Given the description of an element on the screen output the (x, y) to click on. 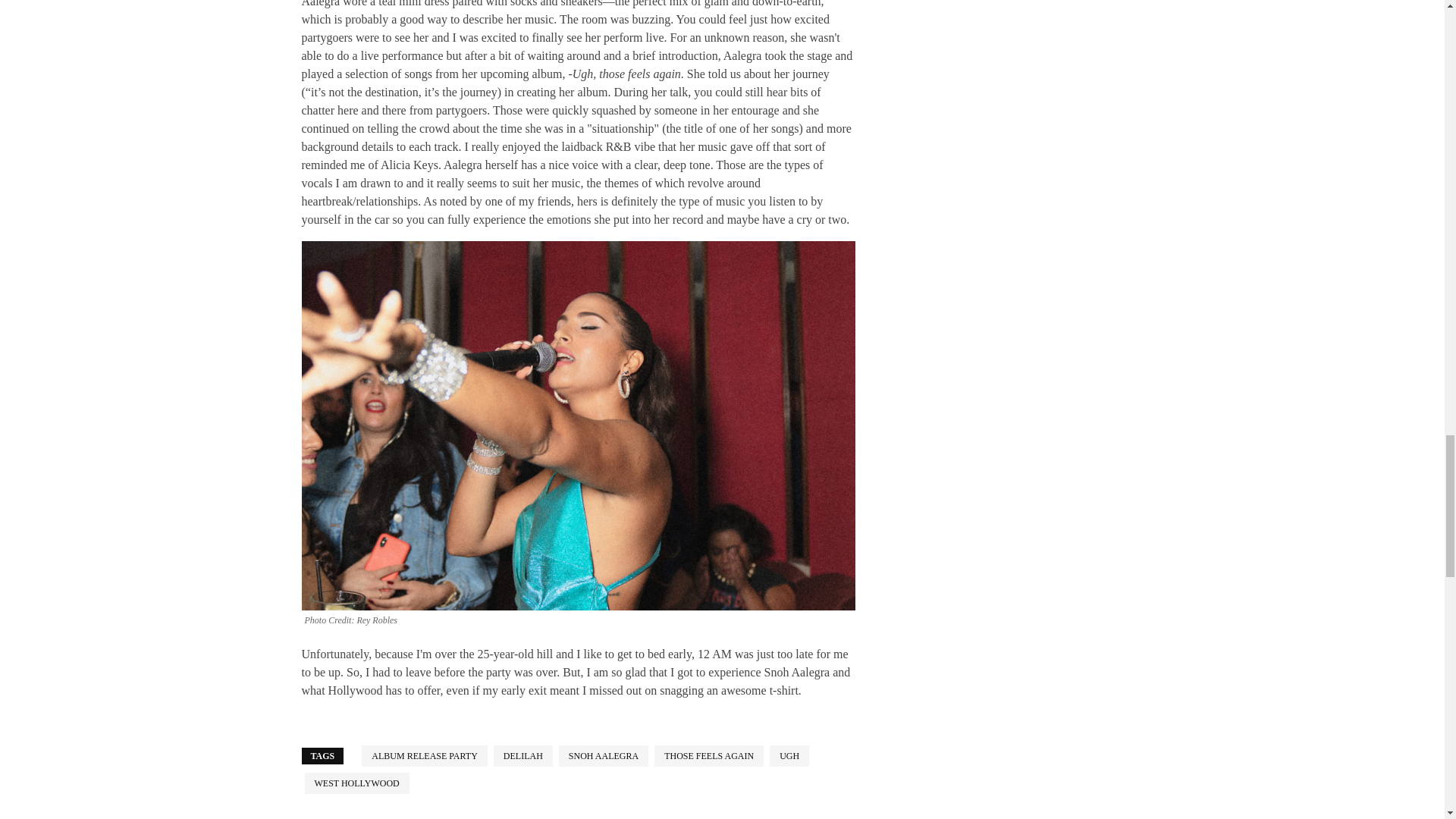
View all posts tagged ugh (789, 755)
View all posts tagged West Hollywood (356, 783)
View all posts tagged delilah (523, 755)
View all posts tagged album release party (424, 755)
View all posts tagged those feels again (707, 755)
View all posts tagged snoh aalegra (603, 755)
